Given the description of an element on the screen output the (x, y) to click on. 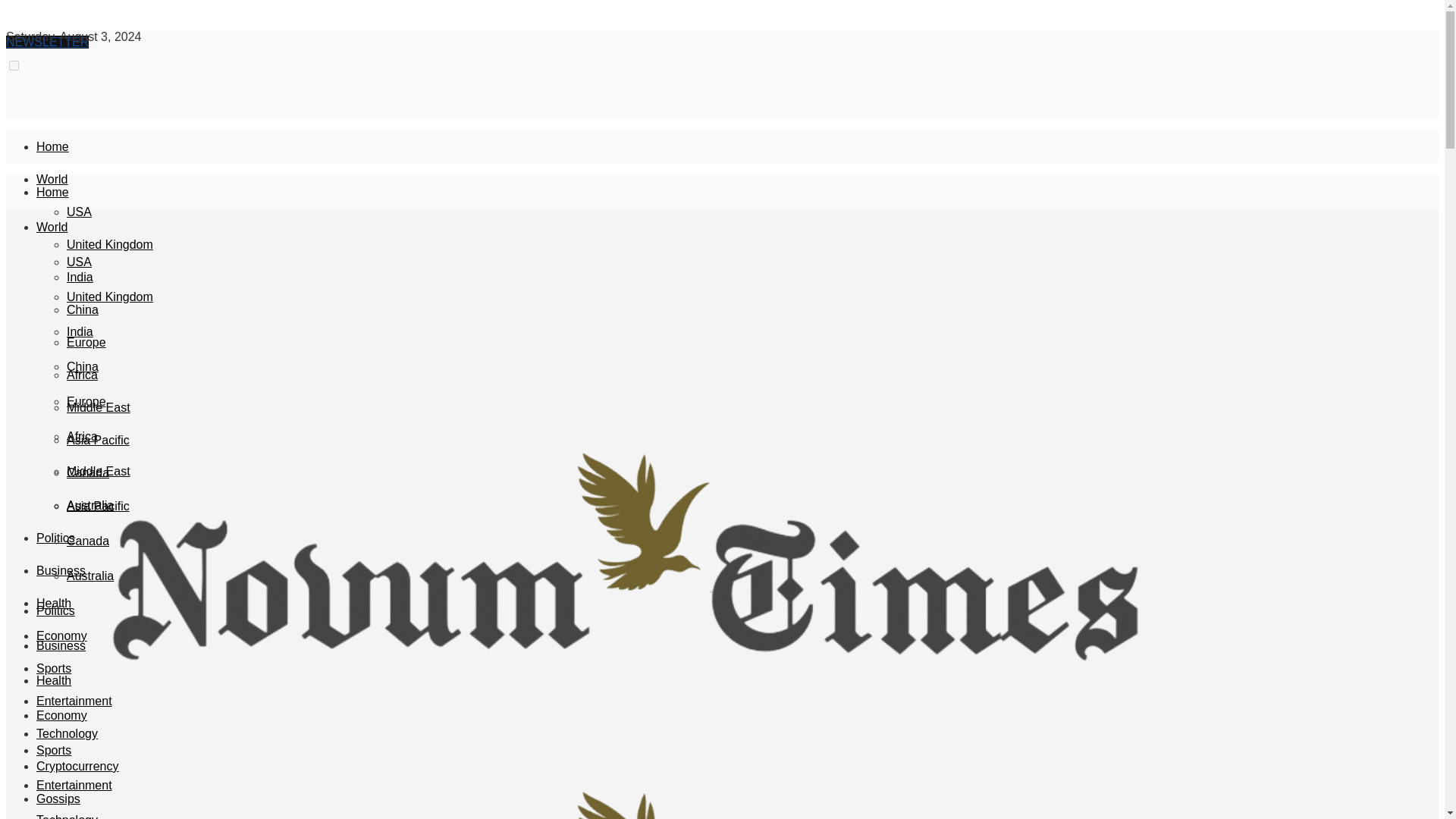
World (52, 226)
Business (60, 570)
USA (78, 261)
Politics (55, 537)
World (52, 178)
Technology (66, 733)
Entertainment (74, 700)
on (13, 65)
Asia Pacific (97, 440)
Sports (53, 667)
Africa (81, 374)
China (82, 309)
Home (52, 192)
United Kingdom (109, 244)
China (82, 366)
